Given the description of an element on the screen output the (x, y) to click on. 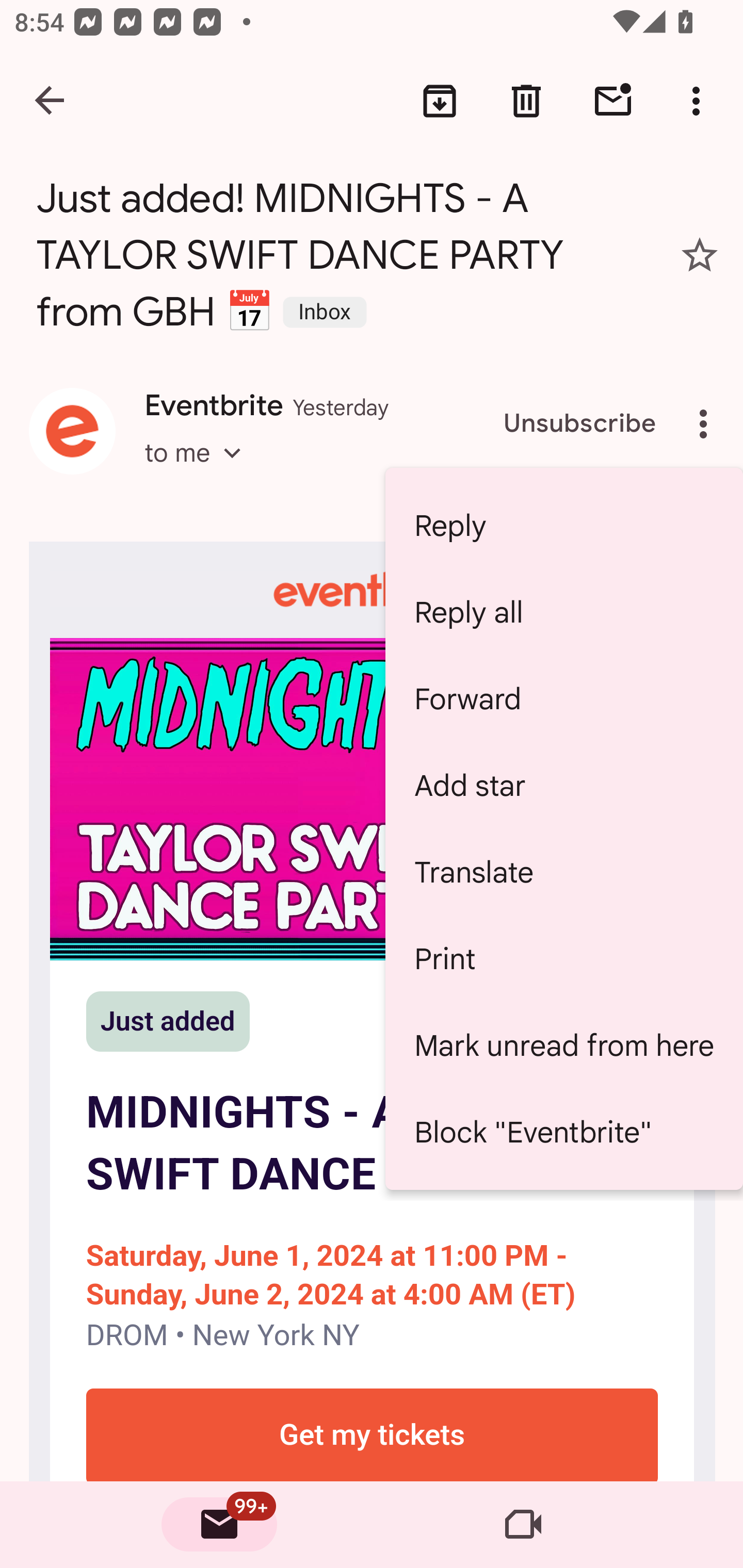
Reply (564, 525)
Reply all (564, 612)
Forward (564, 698)
Add star (564, 785)
Translate (564, 872)
Print (564, 958)
Mark unread from here (564, 1044)
Block "Eventbrite" (564, 1132)
